Given the description of an element on the screen output the (x, y) to click on. 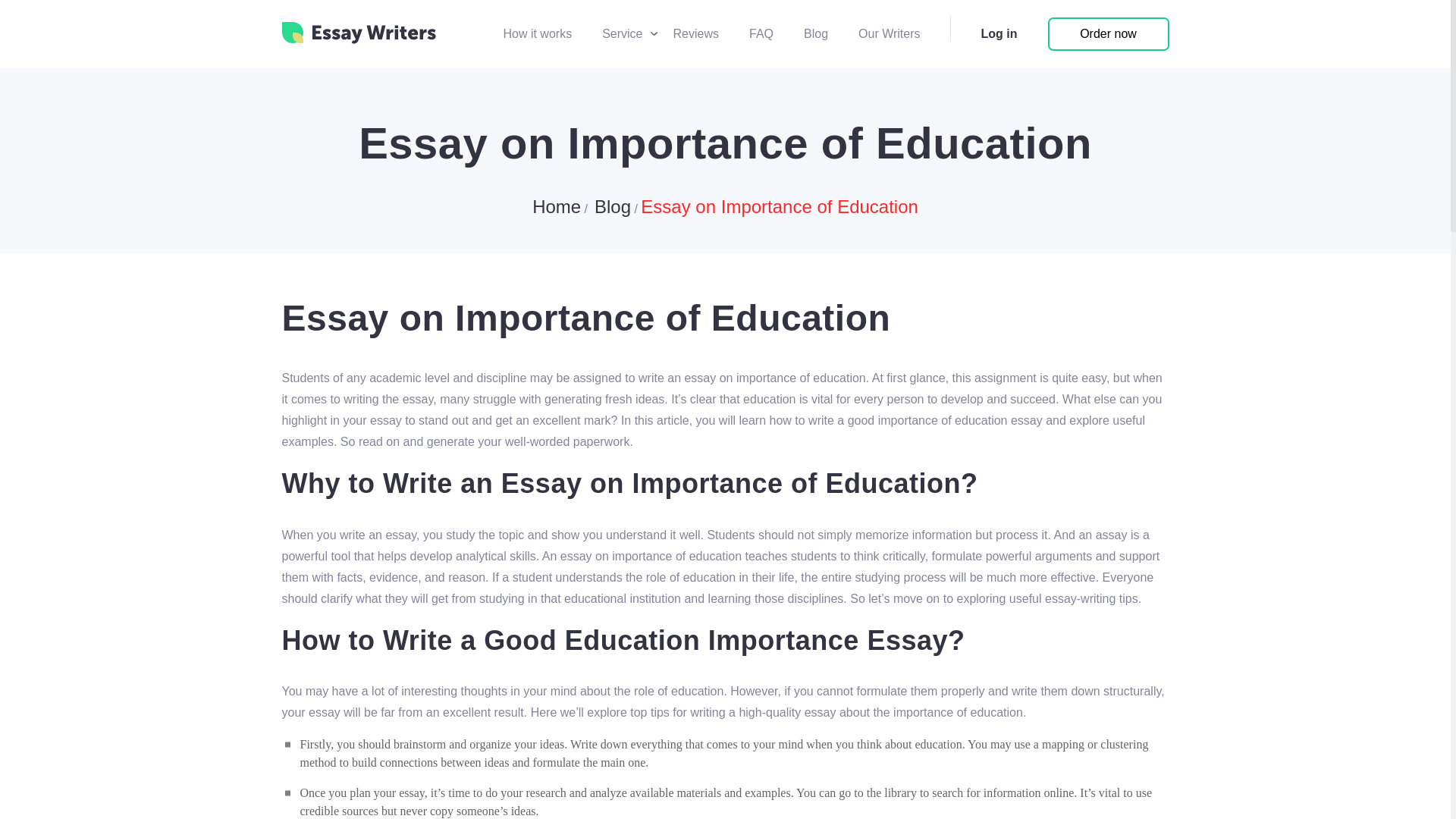
Home (556, 206)
Blog (612, 206)
How it works (537, 33)
Service (622, 33)
Order now (1108, 32)
FAQ (761, 33)
Log in (999, 33)
Our Writers (889, 33)
Blog (815, 33)
Reviews (695, 33)
